Given the description of an element on the screen output the (x, y) to click on. 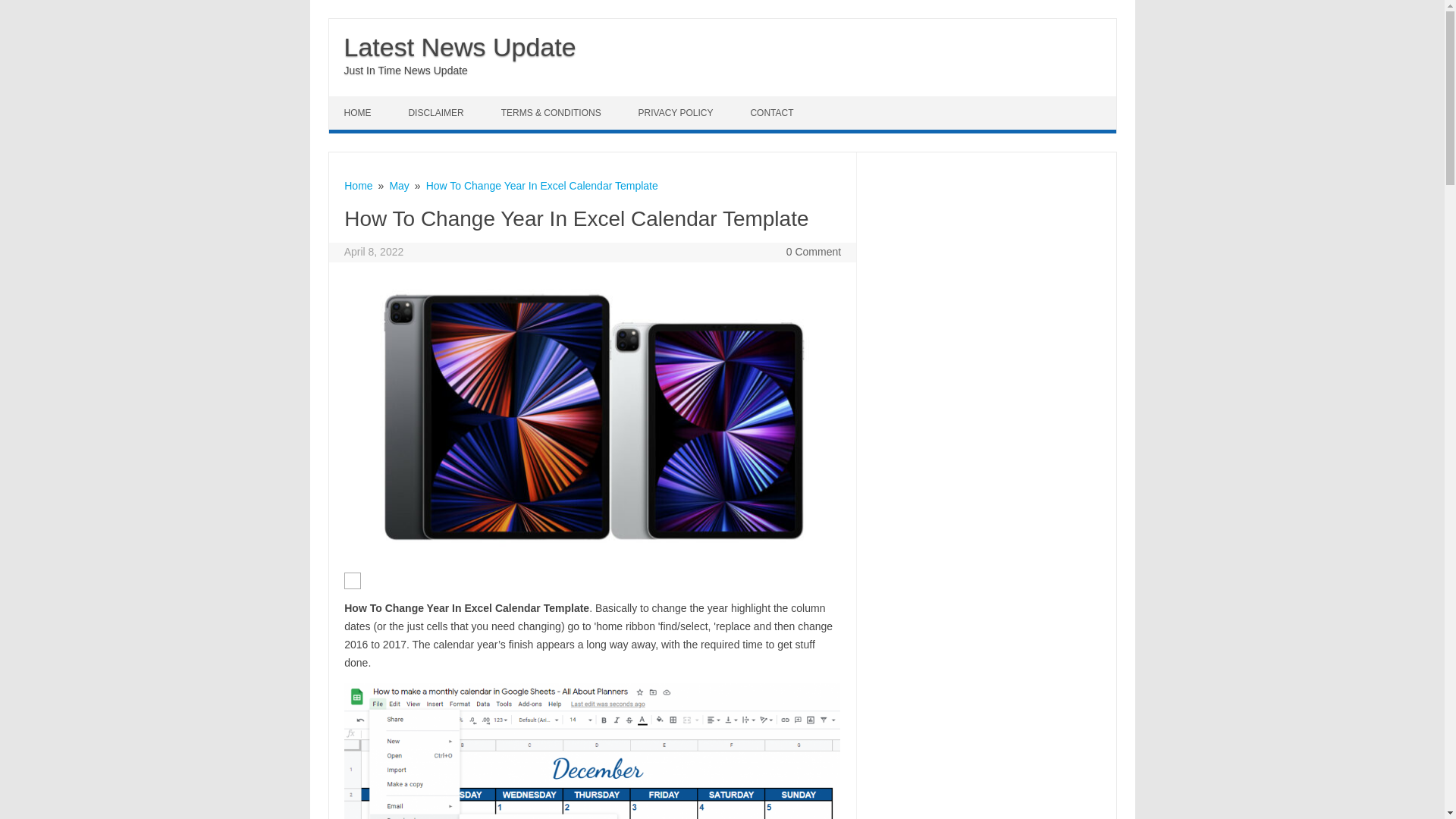
CONTACT (773, 112)
HOME (359, 112)
Latest News Update (459, 46)
Skip to content (363, 101)
May (398, 185)
DISCLAIMER (437, 112)
Latest News Update (459, 46)
Home (357, 185)
How To Change Year In Excel Calendar Template (542, 185)
Just In Time News Update (405, 70)
0 Comment (813, 251)
PRIVACY POLICY (677, 112)
Skip to content (363, 101)
